Given the description of an element on the screen output the (x, y) to click on. 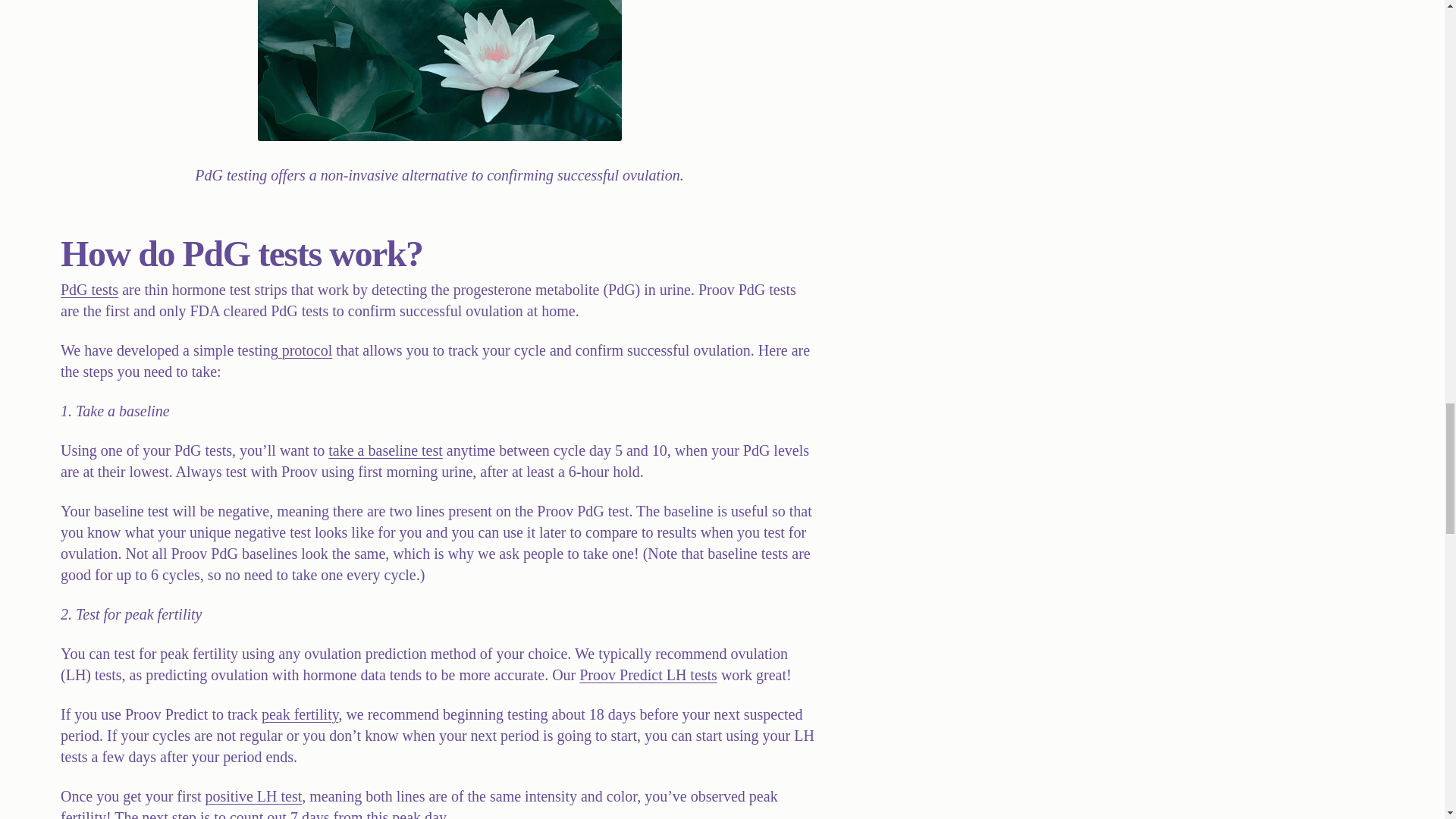
positive LH test (253, 795)
take a baseline test (385, 450)
protocol (305, 350)
peak fertility (299, 713)
Proov Predict LH tests (648, 674)
PdG tests (89, 289)
